Given the description of an element on the screen output the (x, y) to click on. 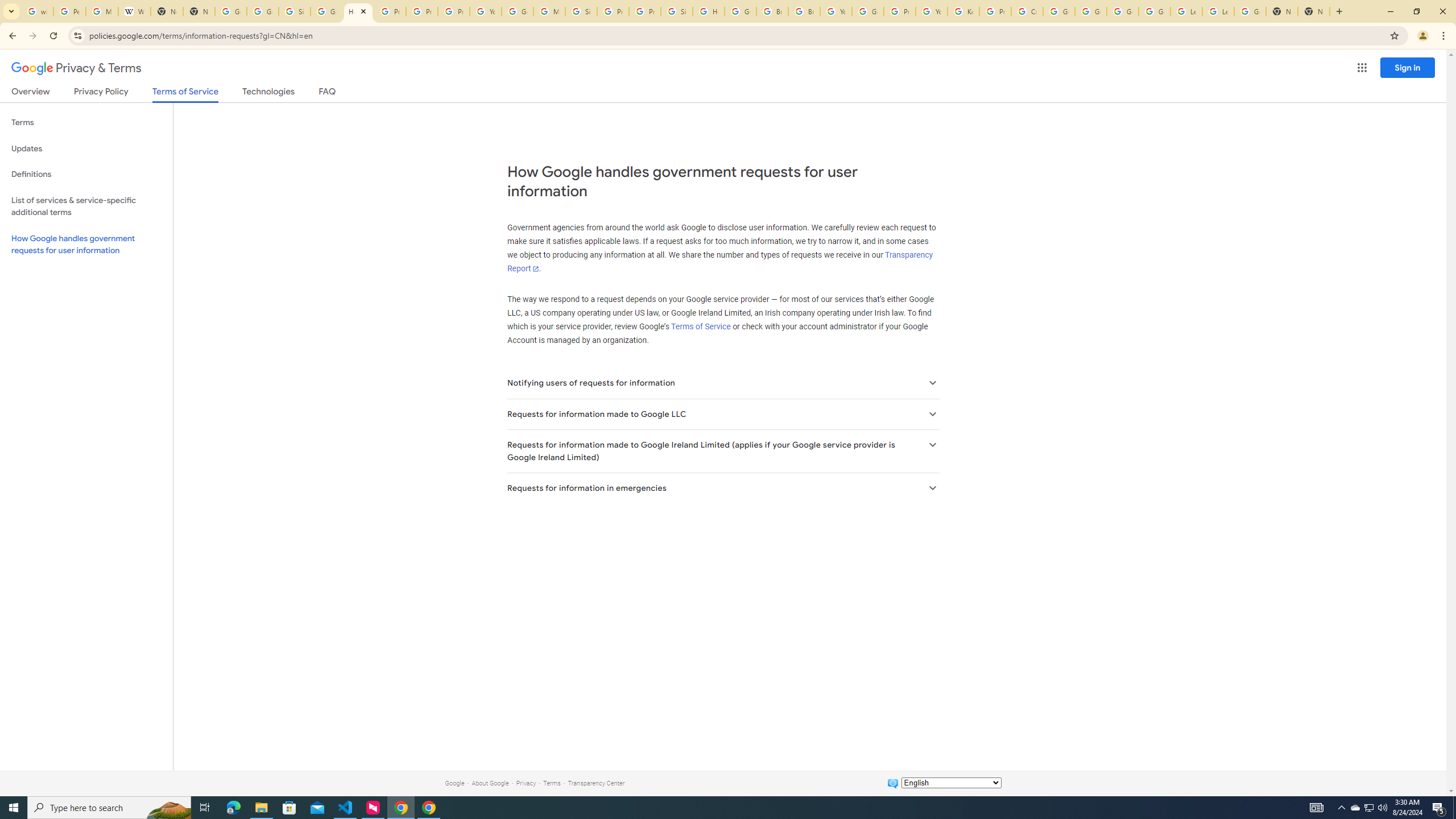
Google Account (1249, 11)
Definitions (86, 174)
List of services & service-specific additional terms (86, 206)
About Google (490, 783)
